Given the description of an element on the screen output the (x, y) to click on. 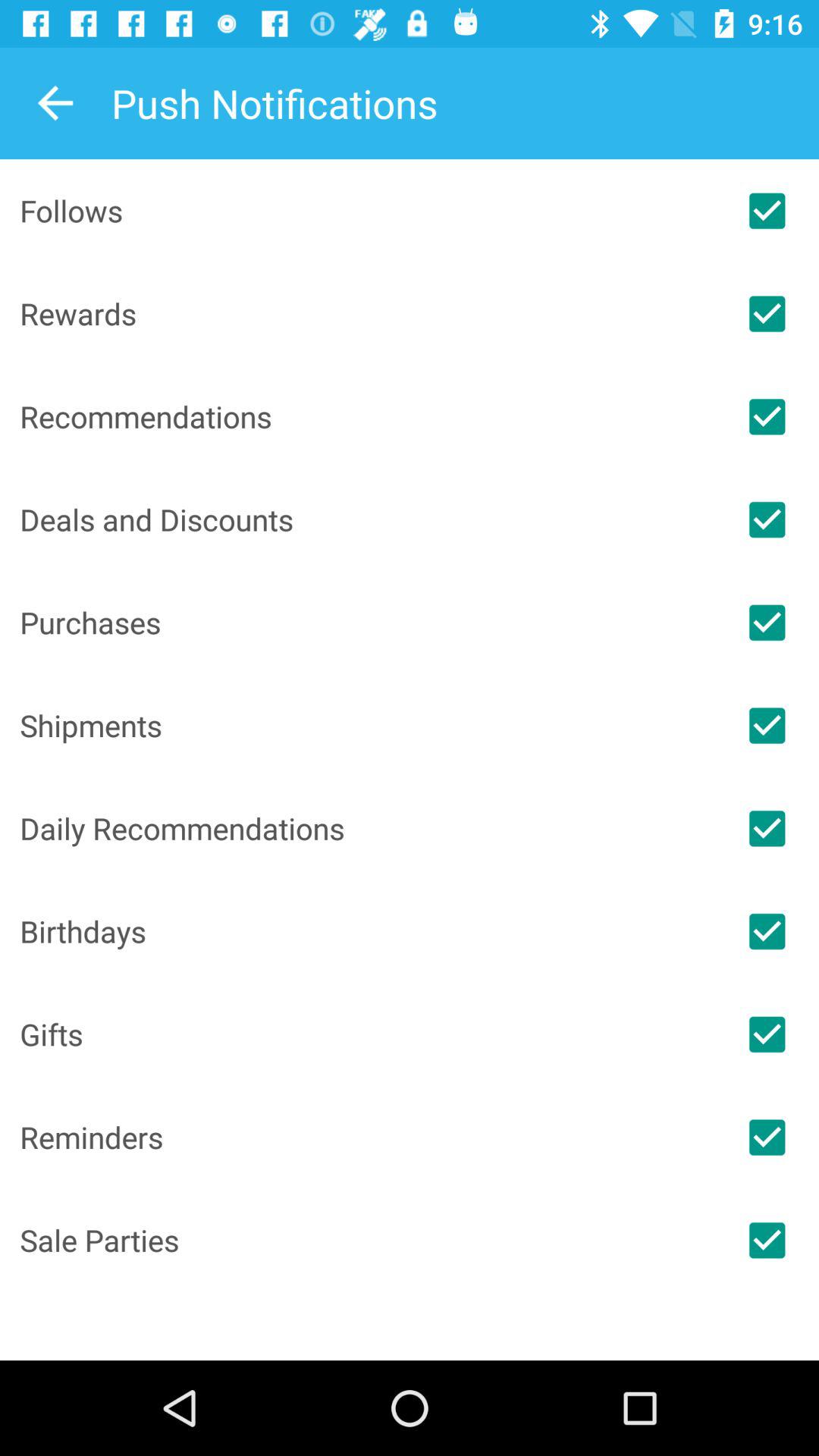
launch icon below the purchases icon (367, 725)
